Given the description of an element on the screen output the (x, y) to click on. 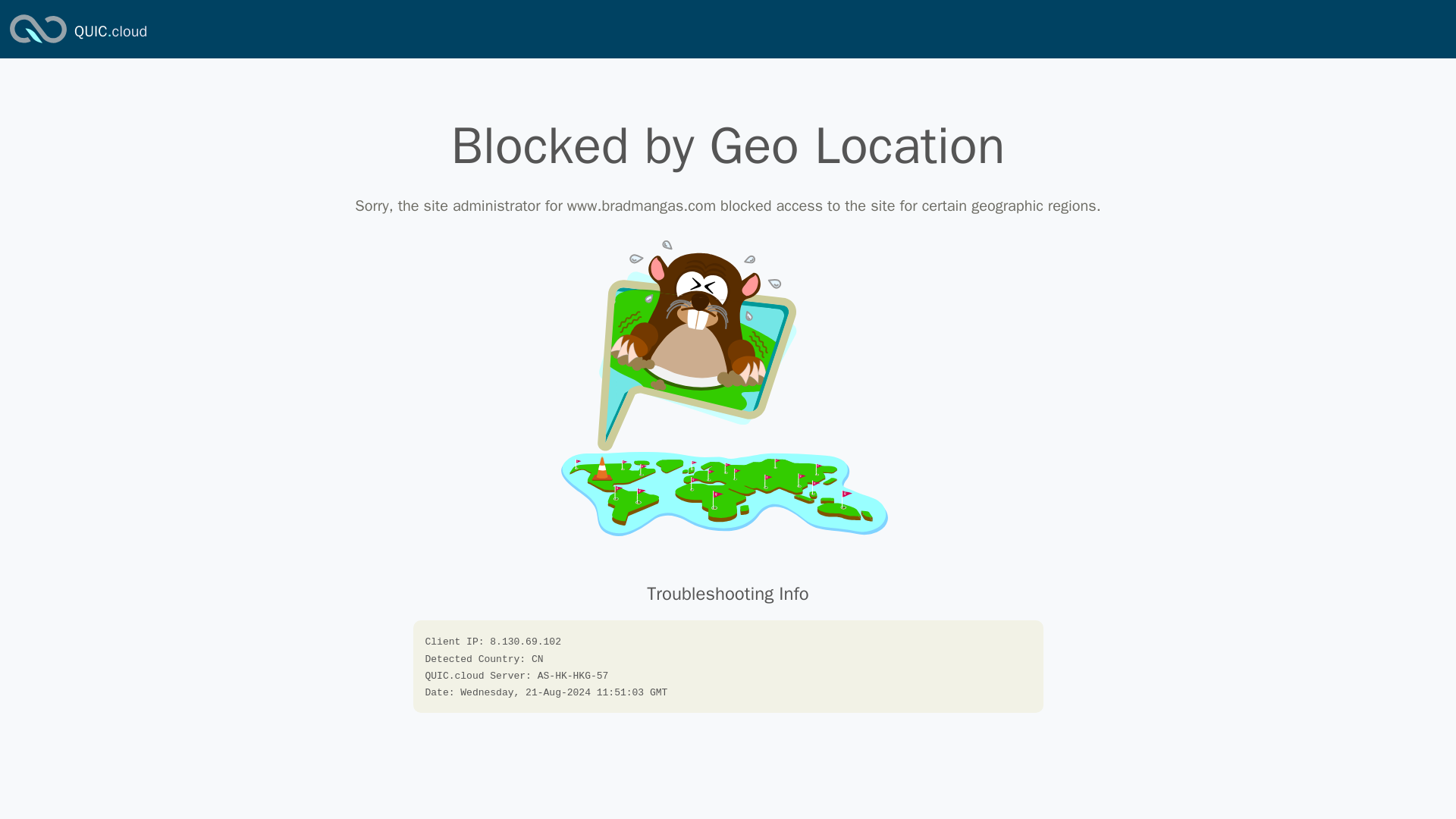
QUIC.cloud (110, 31)
QUIC.cloud (110, 31)
QUIC.cloud (37, 43)
